Given the description of an element on the screen output the (x, y) to click on. 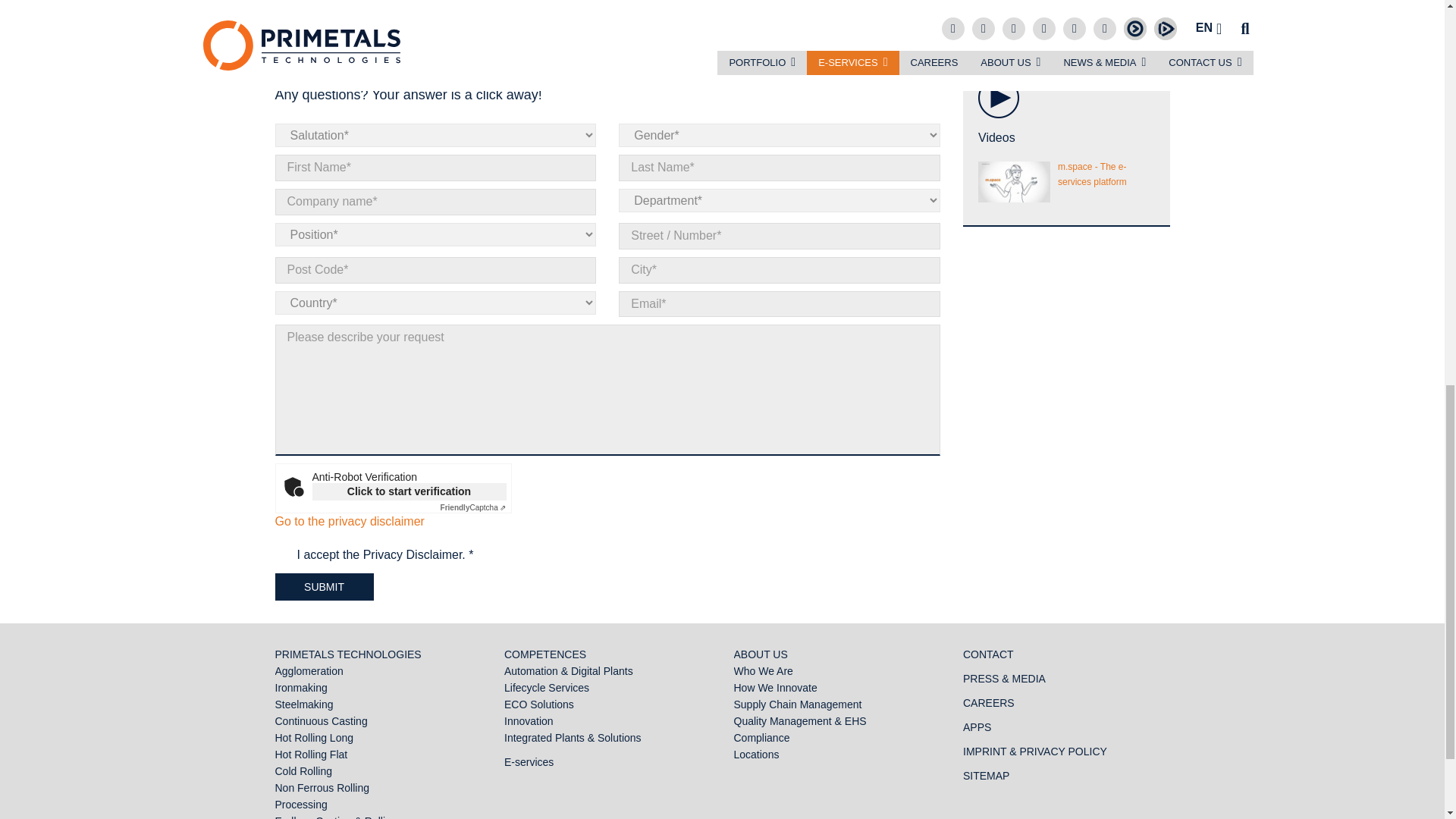
Spare Parts, Always At Your Fingertips. (435, 21)
